Given the description of an element on the screen output the (x, y) to click on. 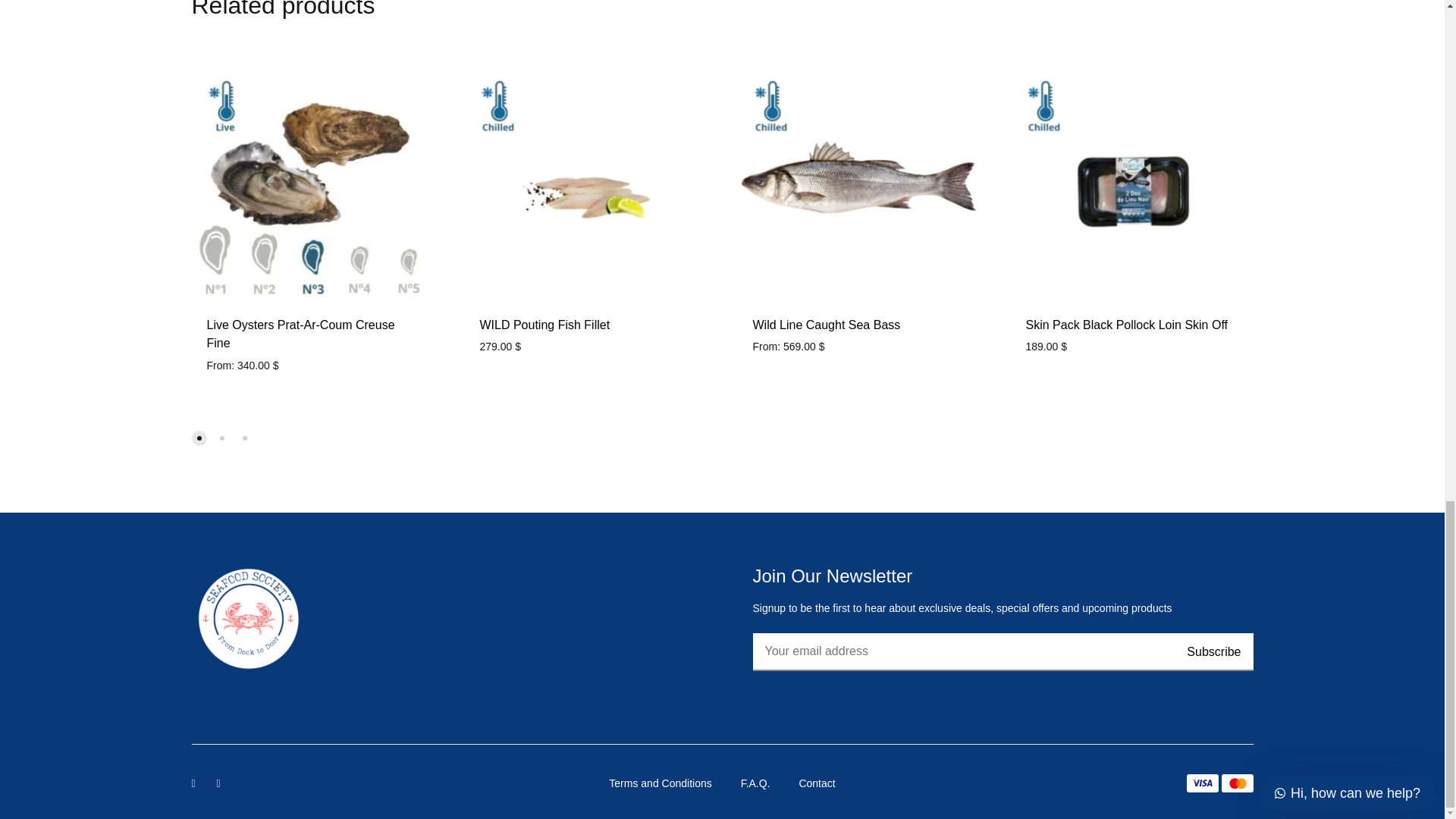
Subscribe (1213, 651)
